Given the description of an element on the screen output the (x, y) to click on. 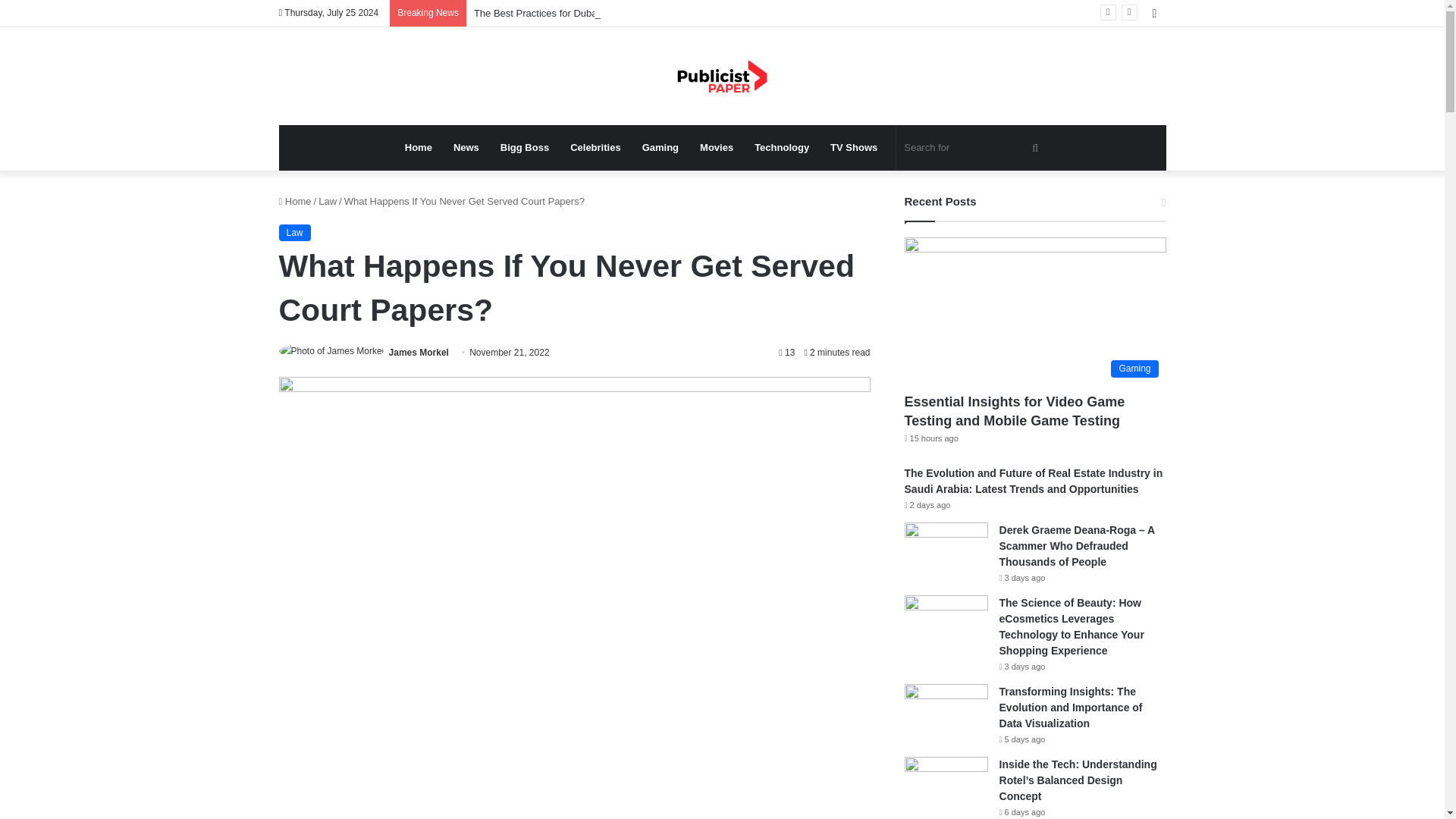
Home (295, 201)
Publicist Paper (721, 76)
James Morkel (418, 352)
Home (418, 147)
Technology (781, 147)
Law (295, 232)
Law (327, 201)
The Best Practices for Dubai Corporate Gifting (575, 12)
TV Shows (853, 147)
Gaming (659, 147)
Celebrities (594, 147)
Search for (972, 147)
James Morkel (418, 352)
Movies (716, 147)
Bigg Boss (524, 147)
